Given the description of an element on the screen output the (x, y) to click on. 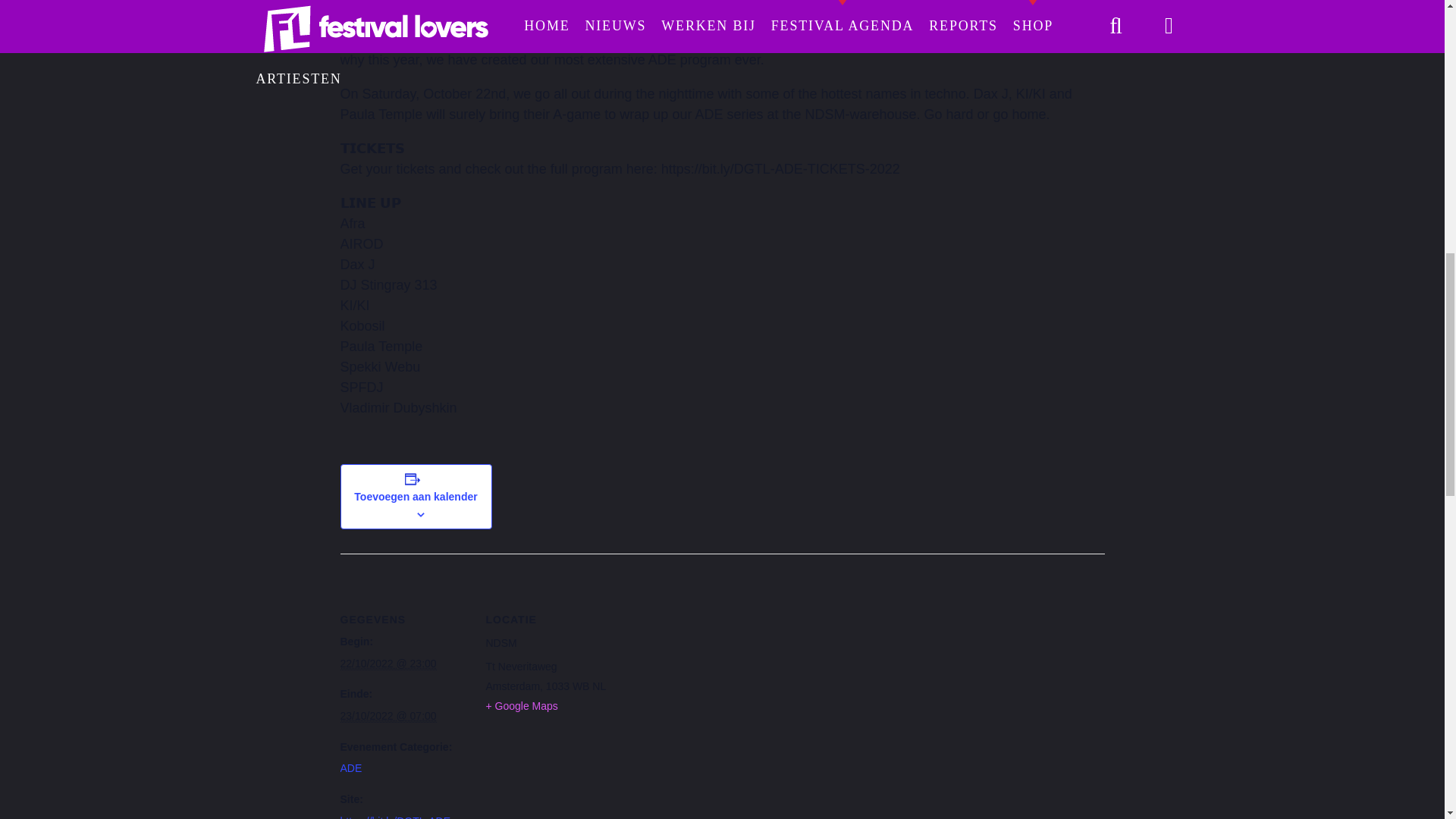
Klik om te bekijken op Google Maps (520, 705)
2022-10-23 (387, 716)
Google Maps iframe met het adres van NDSM (710, 658)
2022-10-22 (387, 663)
